Given the description of an element on the screen output the (x, y) to click on. 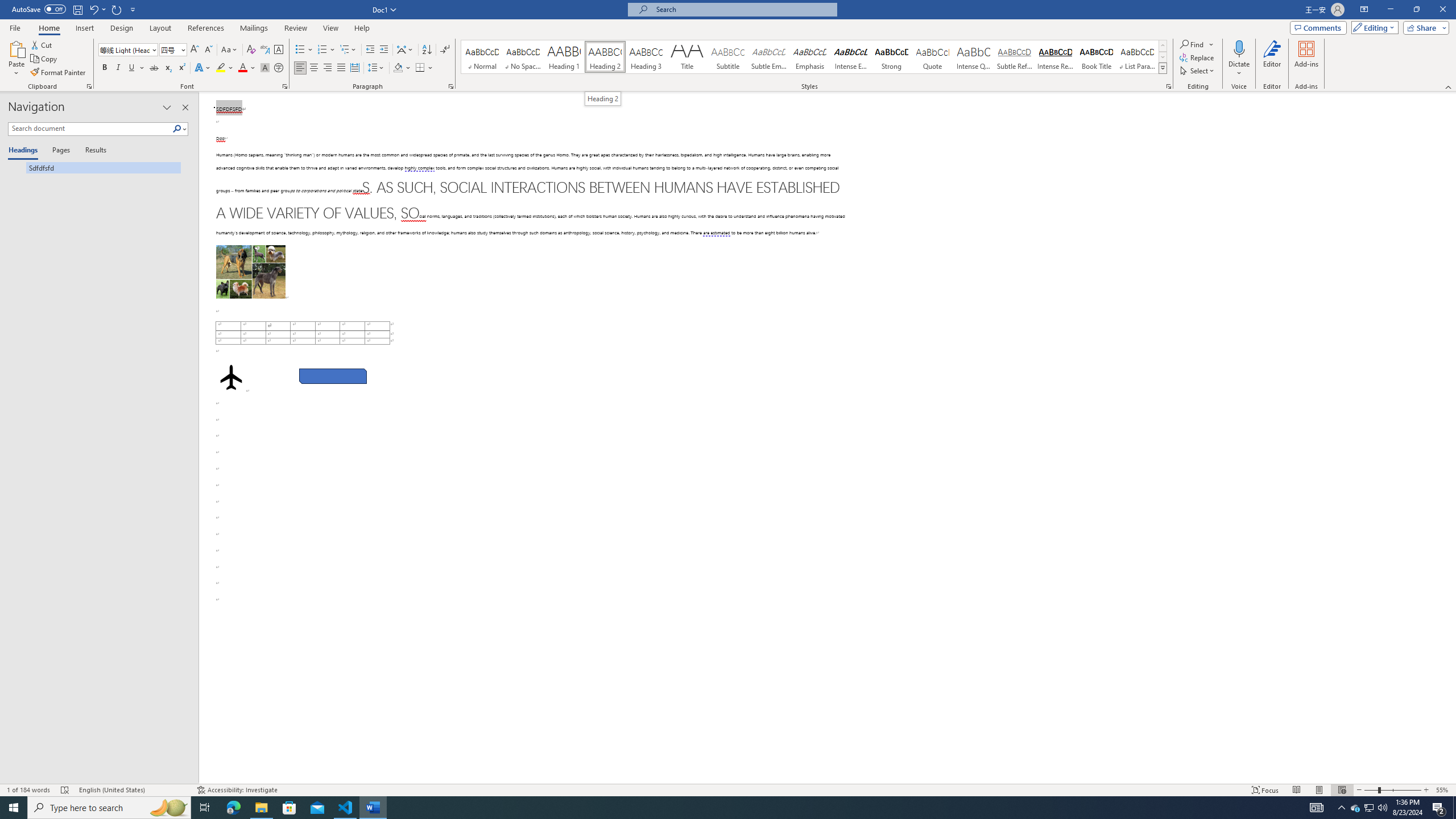
Select (1197, 69)
Shading (402, 67)
Headings (25, 150)
Intense Quote (973, 56)
Decrease Indent (370, 49)
Font Color (246, 67)
Enclose Characters... (278, 67)
